Given the description of an element on the screen output the (x, y) to click on. 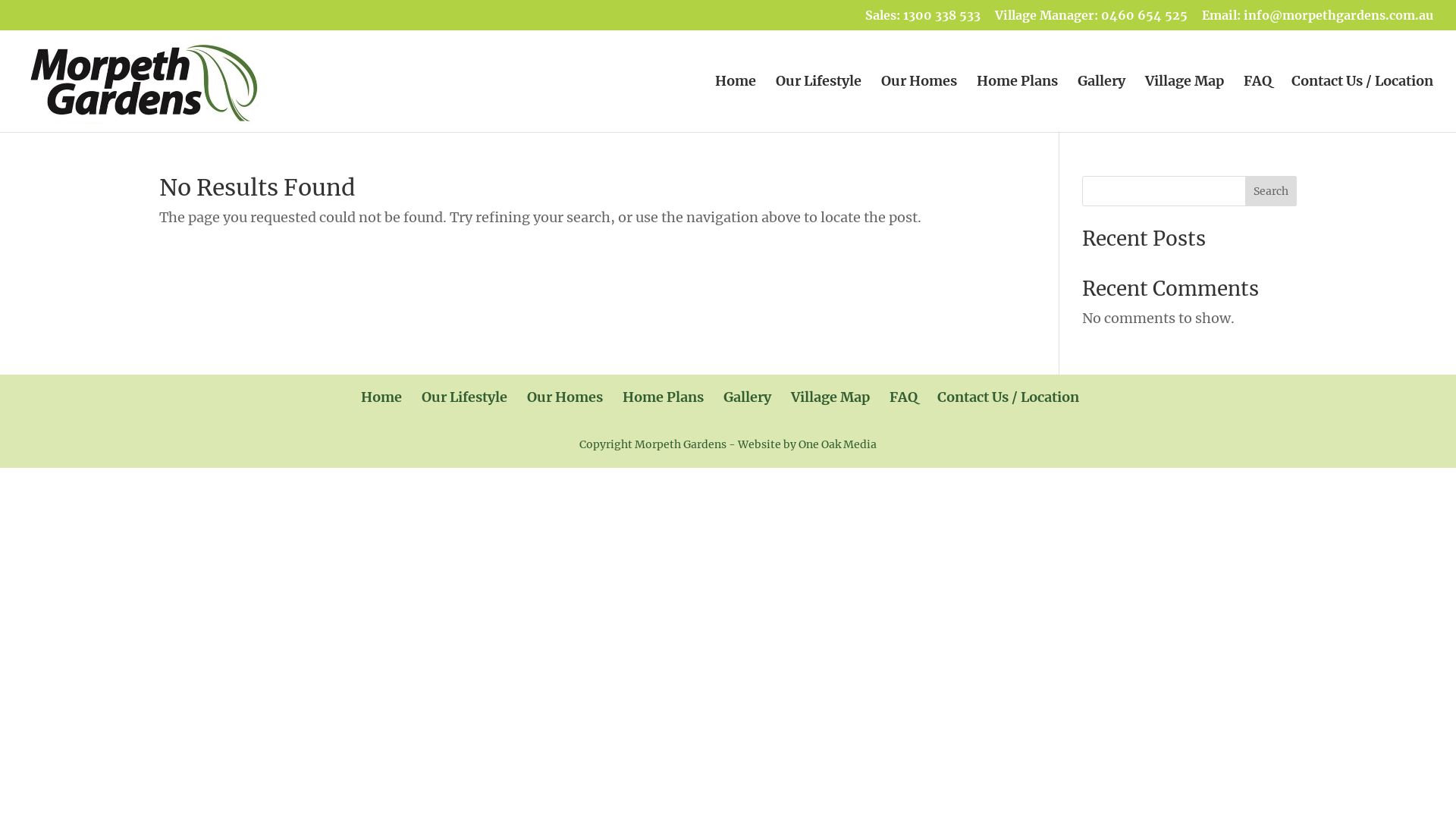
Sales: 1300 338 533 Element type: text (922, 19)
FAQ Element type: text (902, 396)
Home Element type: text (735, 103)
FAQ Element type: text (1257, 103)
Our Lifestyle Element type: text (464, 396)
Our Homes Element type: text (919, 103)
Village Map Element type: text (1184, 103)
Email: info@morpethgardens.com.au Element type: text (1317, 19)
Village Map Element type: text (829, 396)
Gallery Element type: text (1101, 103)
Gallery Element type: text (747, 396)
Contact Us / Location Element type: text (1008, 396)
Search Element type: text (1270, 190)
Our Lifestyle Element type: text (818, 103)
Our Homes Element type: text (564, 396)
Home Plans Element type: text (1016, 103)
Village Manager: 0460 654 525 Element type: text (1090, 19)
Home Element type: text (380, 396)
Contact Us / Location Element type: text (1362, 103)
Home Plans Element type: text (661, 396)
